Given the description of an element on the screen output the (x, y) to click on. 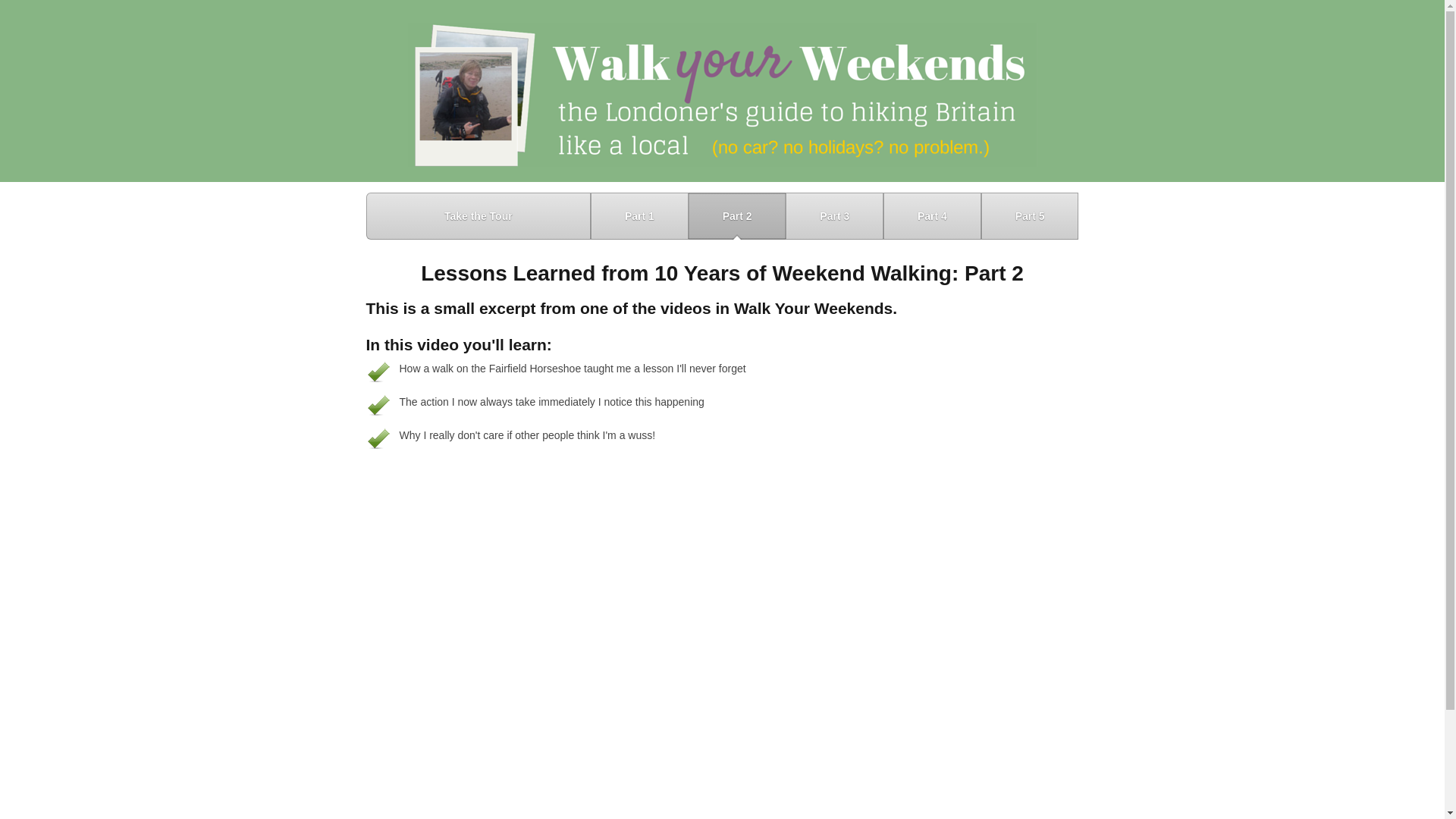
Part 3 (834, 215)
Part 4 (932, 215)
Part 1 (639, 215)
Part 5 (1029, 215)
Part 2 (737, 215)
Take the Tour (478, 215)
